Given the description of an element on the screen output the (x, y) to click on. 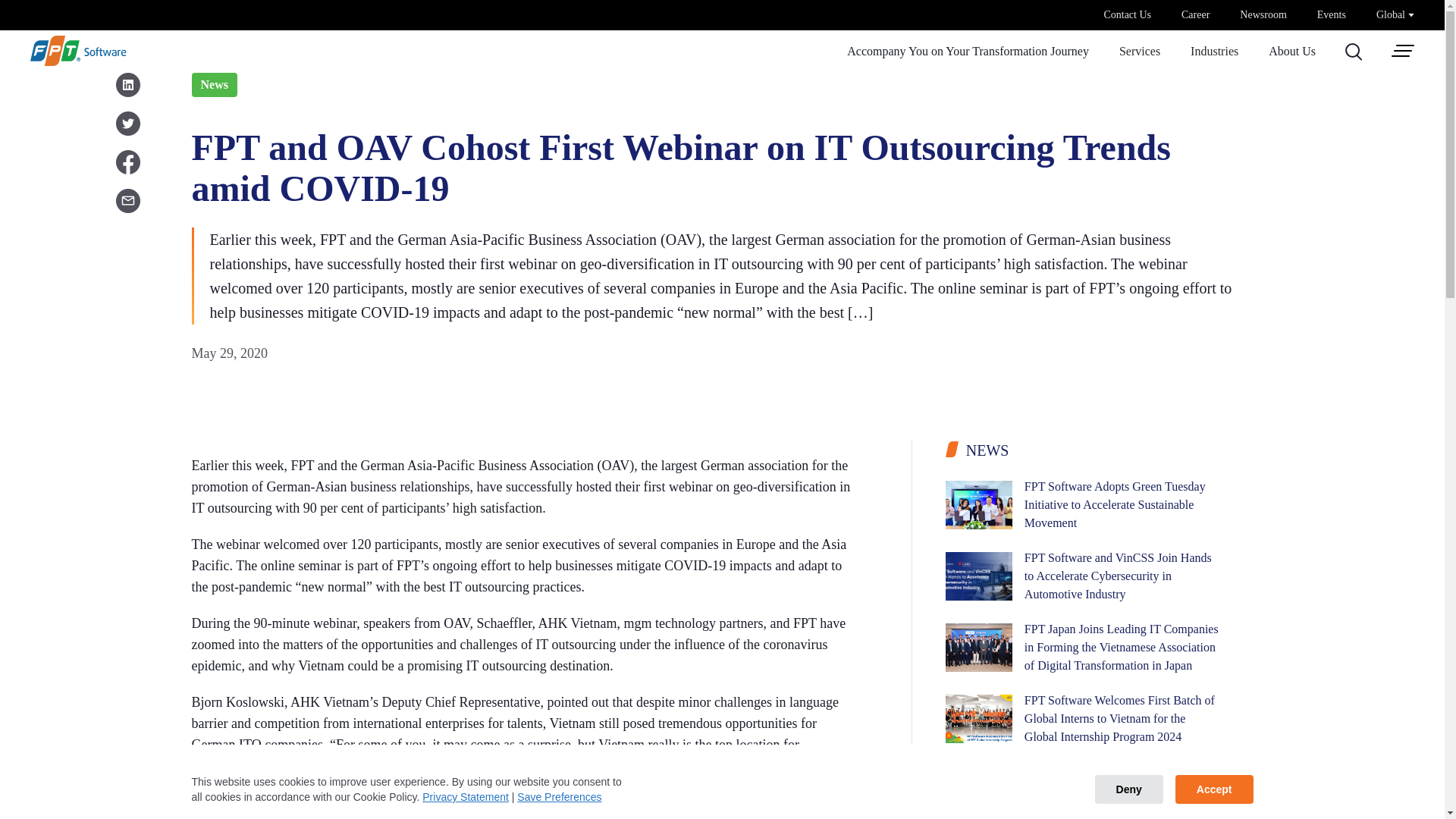
Services (1139, 51)
Newsroom (1262, 14)
Career (1194, 14)
Global (1394, 14)
Contact Us (1127, 14)
Events (1331, 14)
Accompany You on Your Transformation Journey (968, 51)
